Given the description of an element on the screen output the (x, y) to click on. 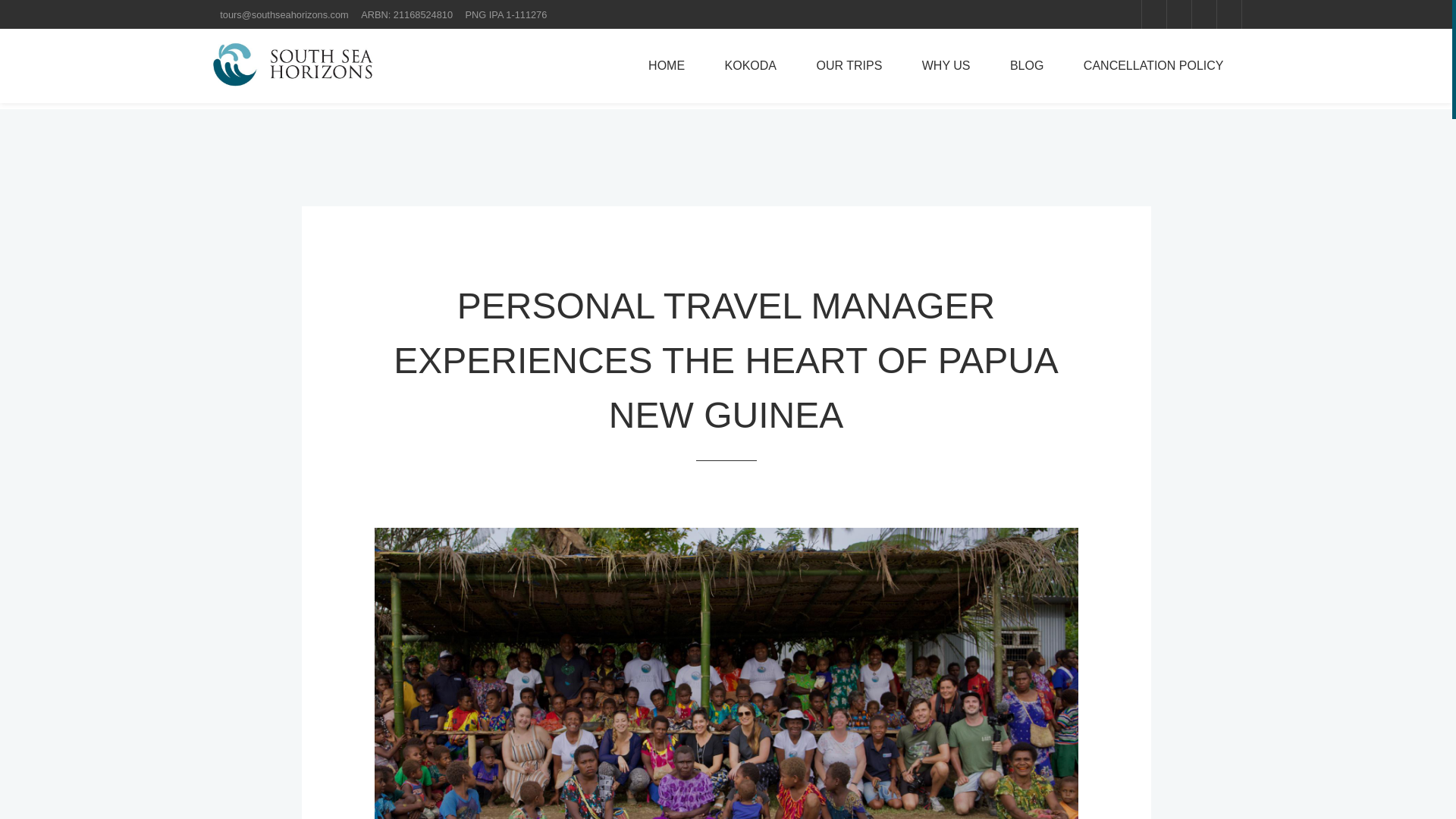
HOME (666, 65)
CANCELLATION POLICY (1153, 65)
BLOG (1026, 65)
KOKODA (750, 65)
OUR TRIPS (848, 65)
WHY US (946, 65)
